Given the description of an element on the screen output the (x, y) to click on. 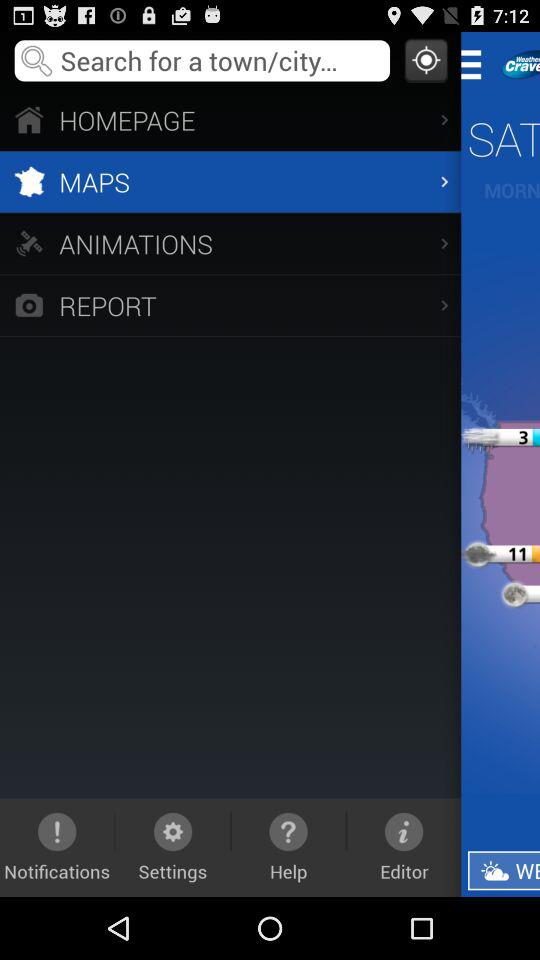
swipe to the weather item (504, 870)
